Given the description of an element on the screen output the (x, y) to click on. 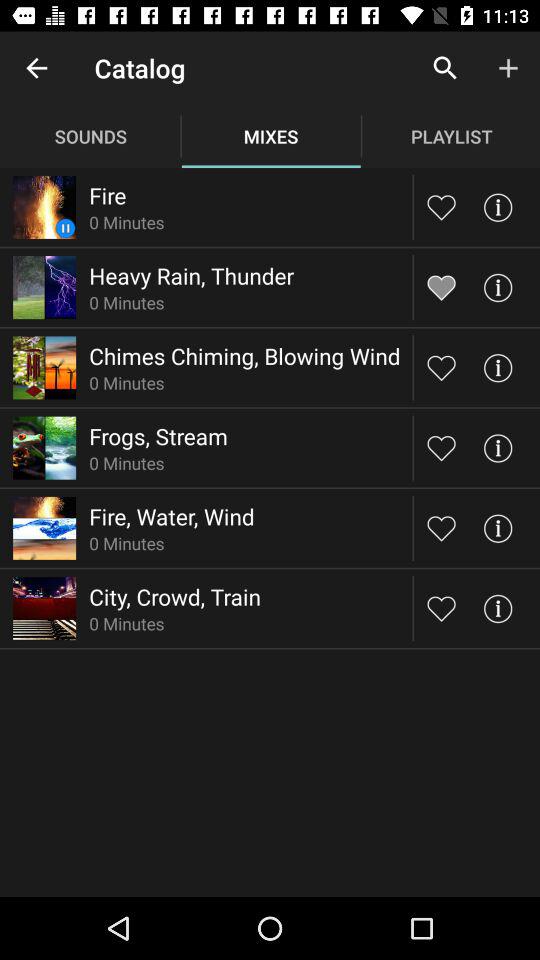
like button to choose (441, 367)
